Given the description of an element on the screen output the (x, y) to click on. 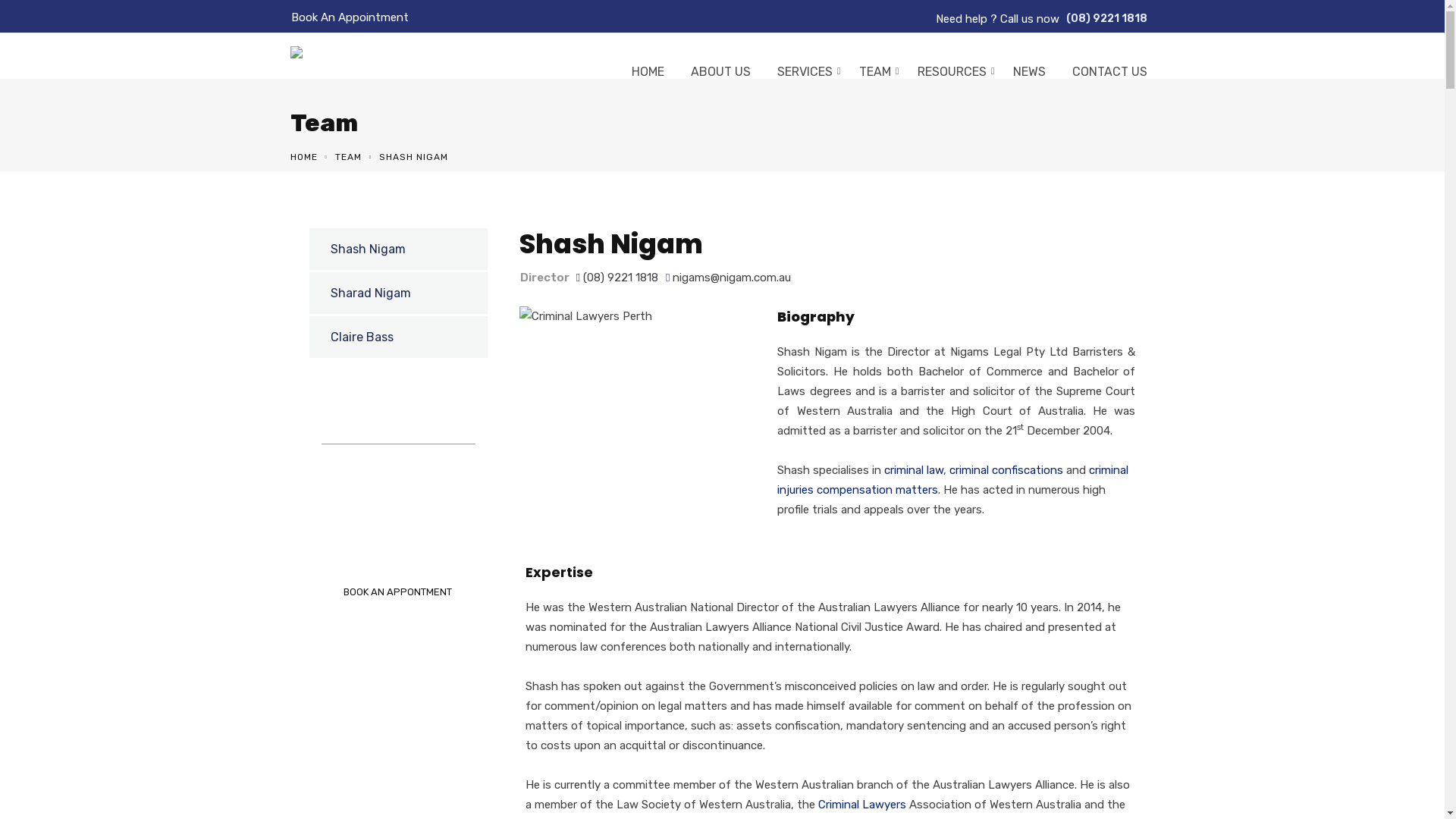
HOME Element type: text (302, 156)
NEWS Element type: text (1024, 75)
ABOUT US Element type: text (716, 75)
criminal law Element type: text (913, 469)
(08) 9221 1818 Element type: text (620, 277)
RESOURCES Element type: text (946, 75)
TEAM Element type: text (870, 75)
(08) 9221 1818 Element type: text (1106, 18)
Call (08) 9221 1818 Element type: text (398, 548)
HOME Element type: text (643, 75)
CONTACT US Element type: text (1104, 75)
nigams@nigam.com.au Element type: text (731, 277)
Claire Bass Element type: text (398, 336)
criminal confiscations Element type: text (1006, 469)
TEAM Element type: text (348, 156)
BOOK AN APPONTMENT Element type: text (398, 591)
criminal injuries compensation matters Element type: text (952, 479)
Shash Nigam Element type: text (398, 248)
Book An Appointment Element type: text (349, 17)
Shash Nigam Element type: hover (584, 316)
Sharad Nigam Element type: text (398, 292)
Criminal Lawyers Element type: text (861, 804)
SERVICES Element type: text (800, 75)
